Given the description of an element on the screen output the (x, y) to click on. 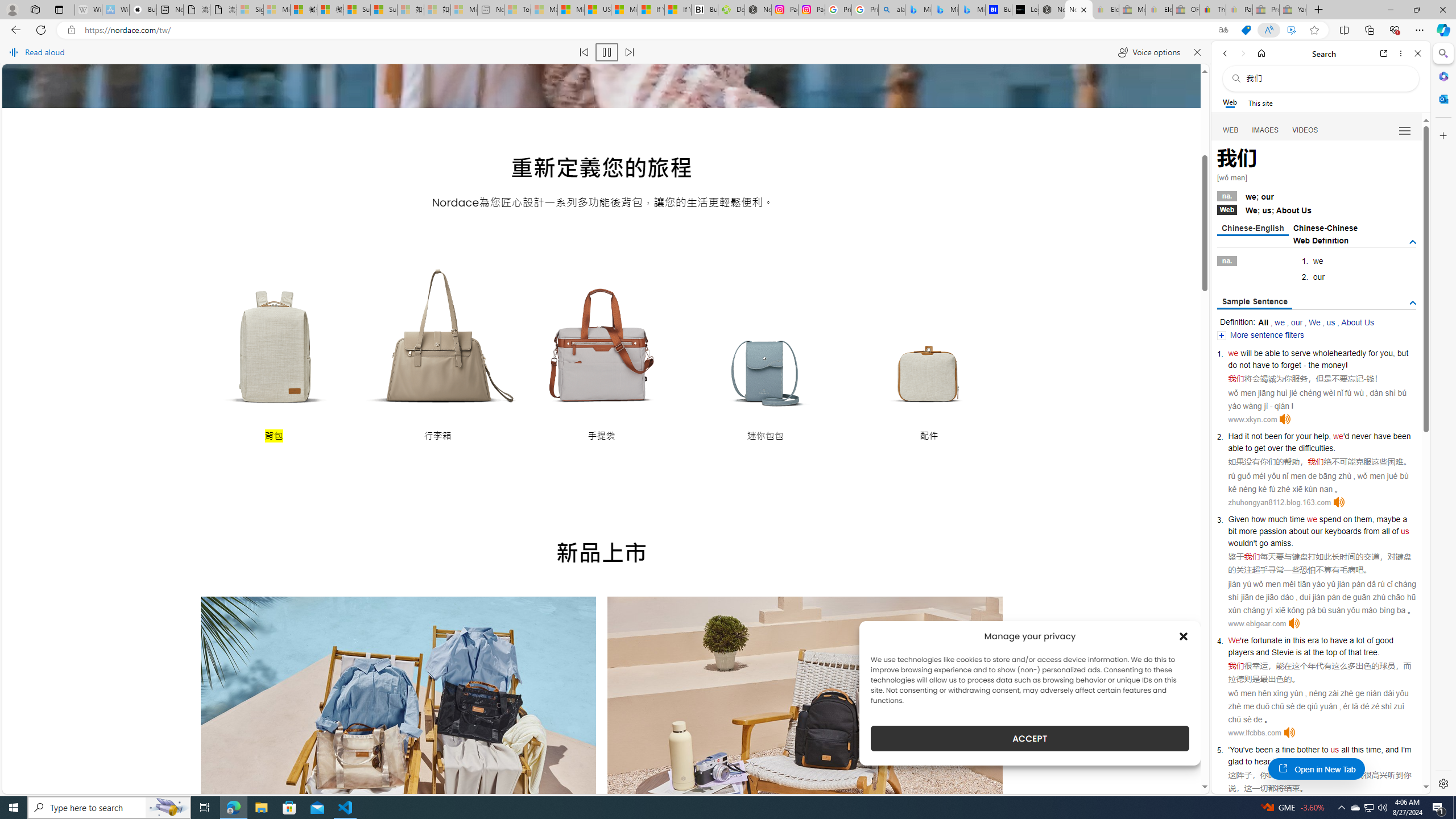
have (1337, 640)
keyboards (1342, 530)
forget (1291, 364)
We (1233, 640)
Pause read aloud (Ctrl+Shift+U) (606, 52)
spend (1329, 519)
Read next paragraph (628, 52)
' (1228, 749)
